Given the description of an element on the screen output the (x, y) to click on. 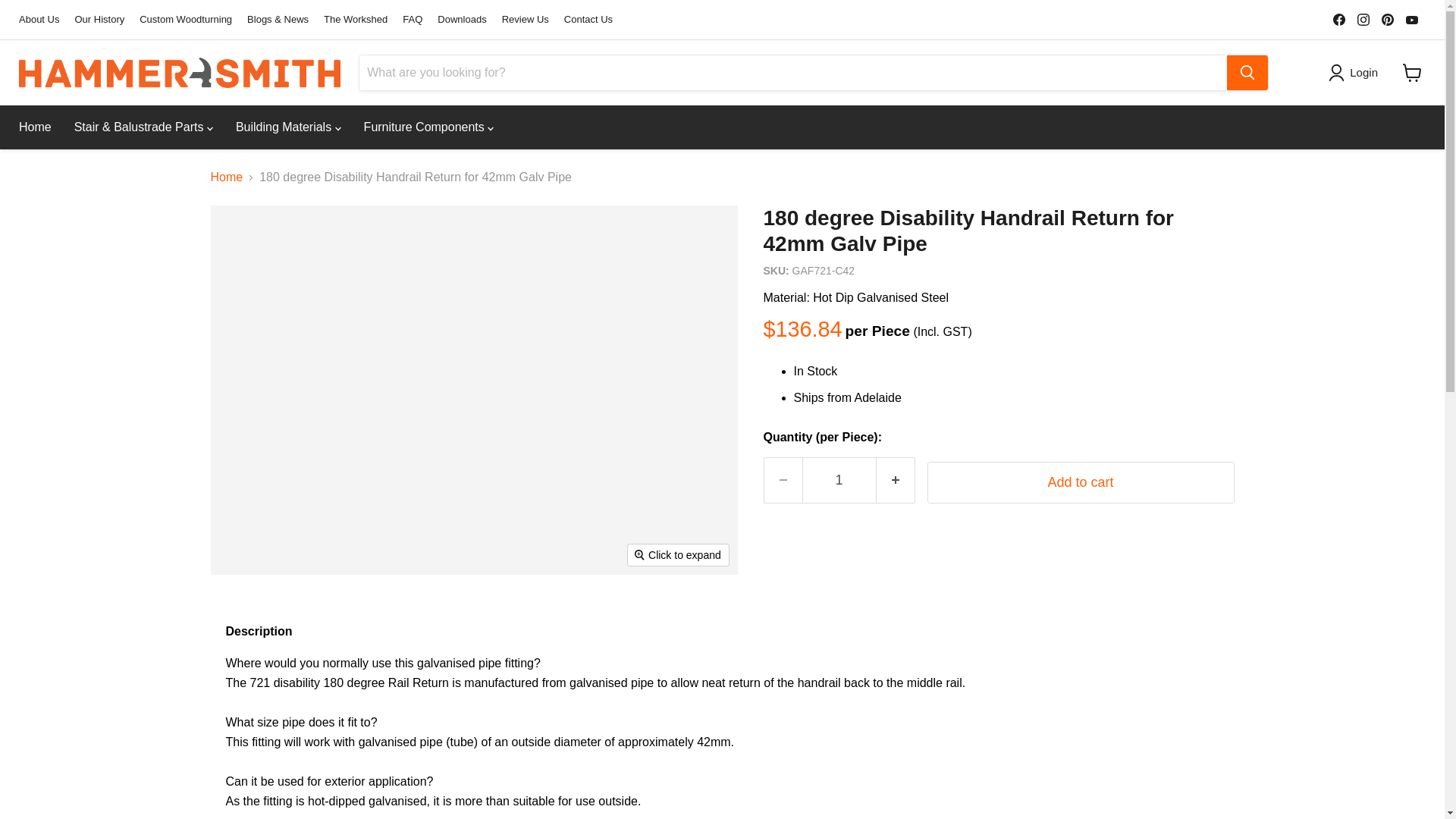
Pinterest (1387, 19)
The Workshed (355, 19)
Contact Us (588, 19)
Instagram (1363, 19)
Review Us (525, 19)
Login (1355, 72)
Custom Woodturning (185, 19)
FAQ (412, 19)
View cart (1411, 72)
Downloads (462, 19)
